Given the description of an element on the screen output the (x, y) to click on. 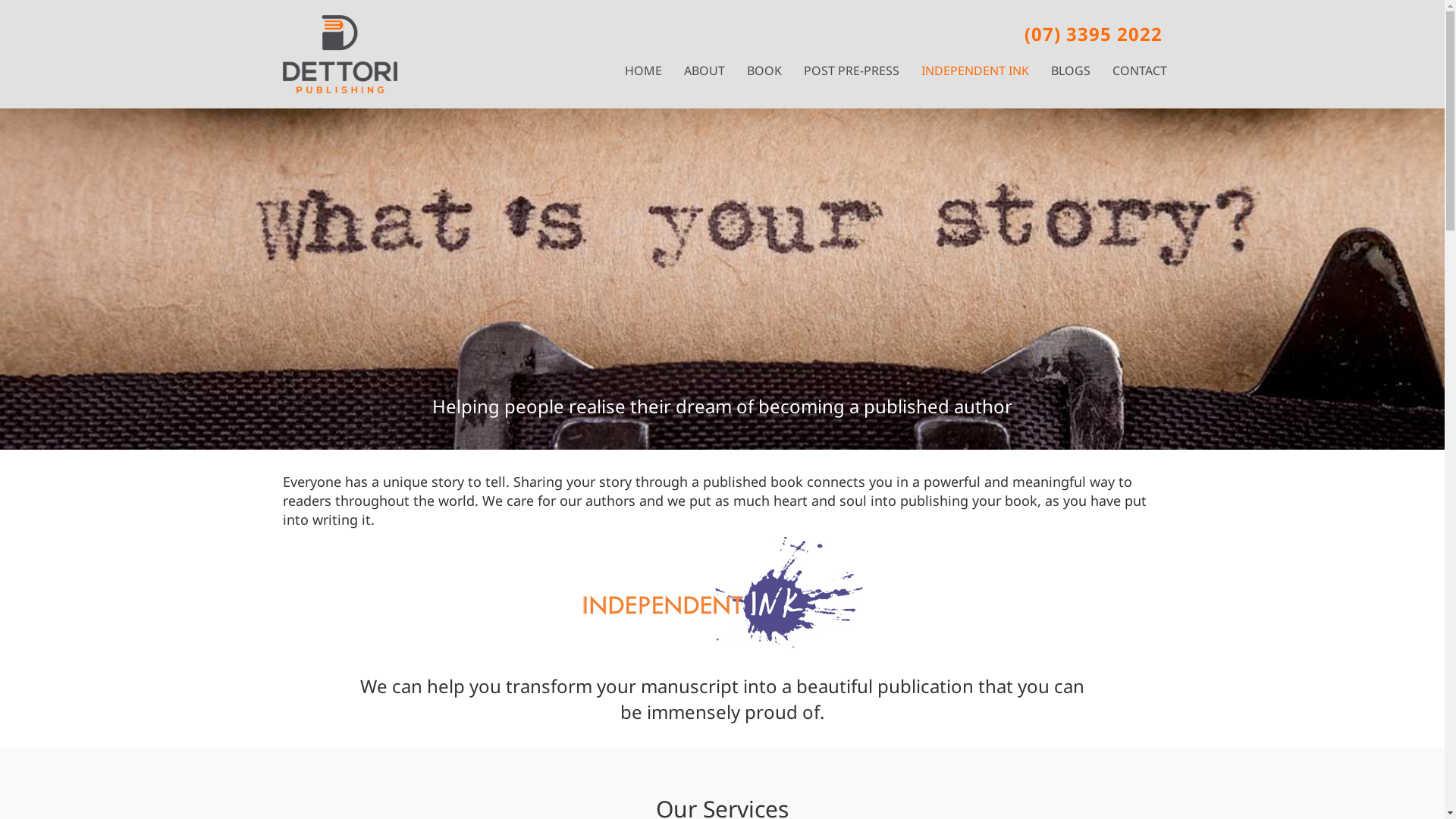
HOME Element type: text (643, 70)
ABOUT Element type: text (704, 70)
POST PRE-PRESS Element type: text (851, 70)
Dettori-Publishing-logo Element type: hover (340, 54)
(07) 3395 2022 Element type: text (1092, 33)
INDEPENDENT INK Element type: text (974, 70)
BOOK Element type: text (763, 70)
BLOGS Element type: text (1070, 70)
CONTACT Element type: text (1138, 70)
